Given the description of an element on the screen output the (x, y) to click on. 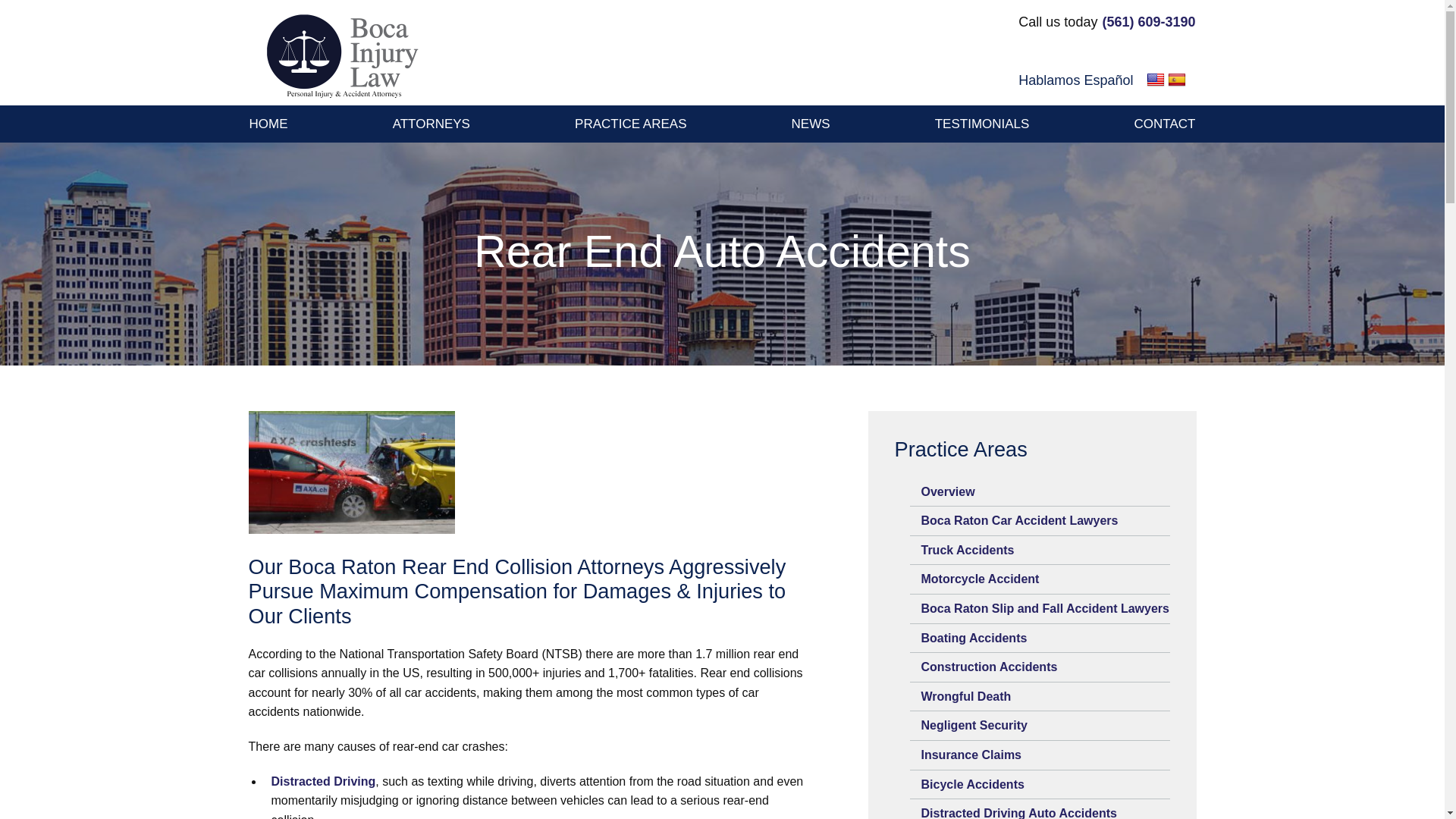
HOME (268, 124)
ATTORNEYS (430, 124)
English (1156, 79)
Spanish (1177, 79)
